Given the description of an element on the screen output the (x, y) to click on. 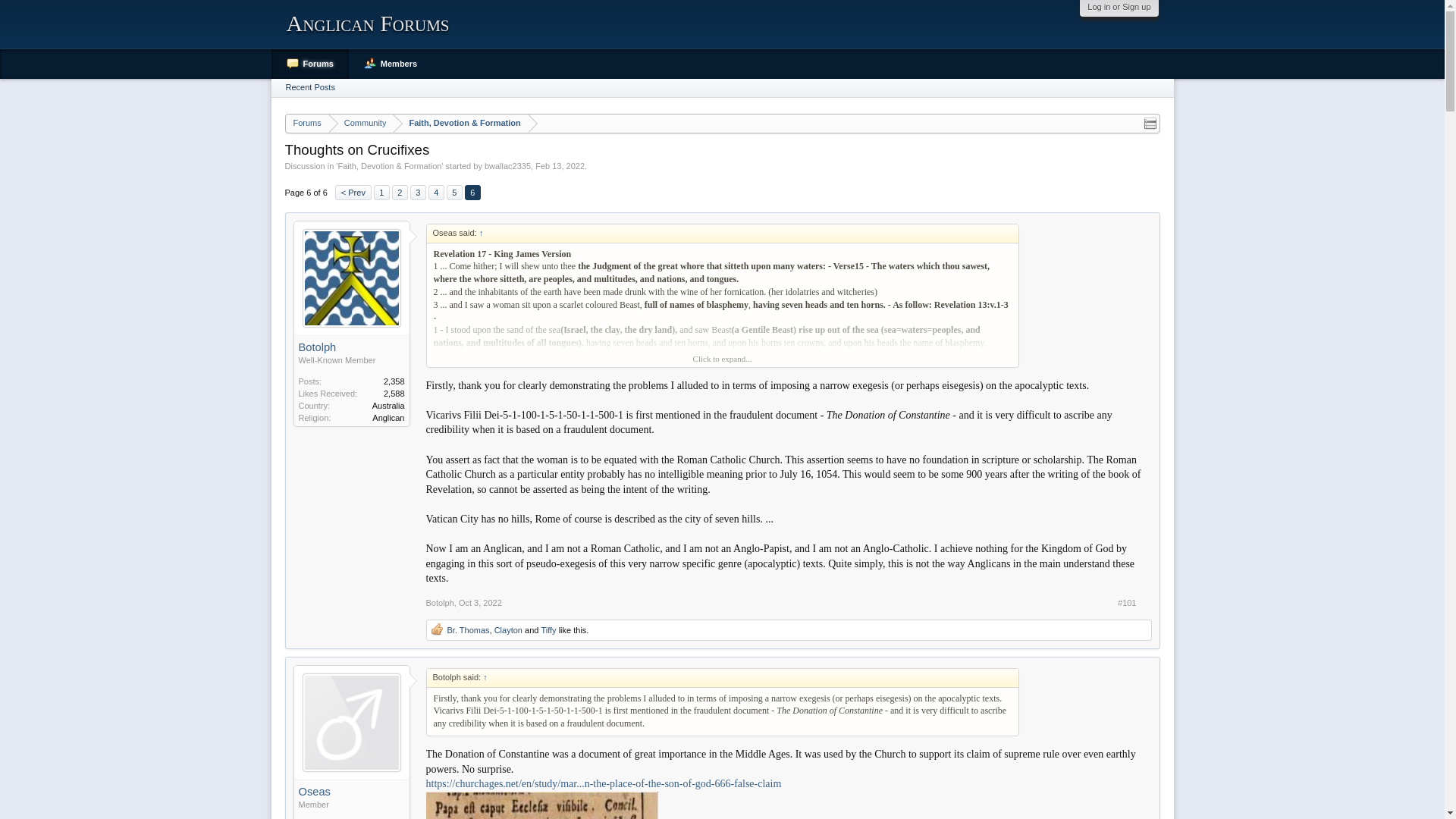
Oct 3, 2022 (480, 602)
bwallac2335 (507, 165)
Permalink (1126, 602)
Br. Thomas (467, 629)
4 (436, 192)
Oseas (351, 791)
Forums (307, 123)
5 (454, 192)
Feb 13, 2022 (560, 165)
Log in or Sign up (1118, 6)
